Given the description of an element on the screen output the (x, y) to click on. 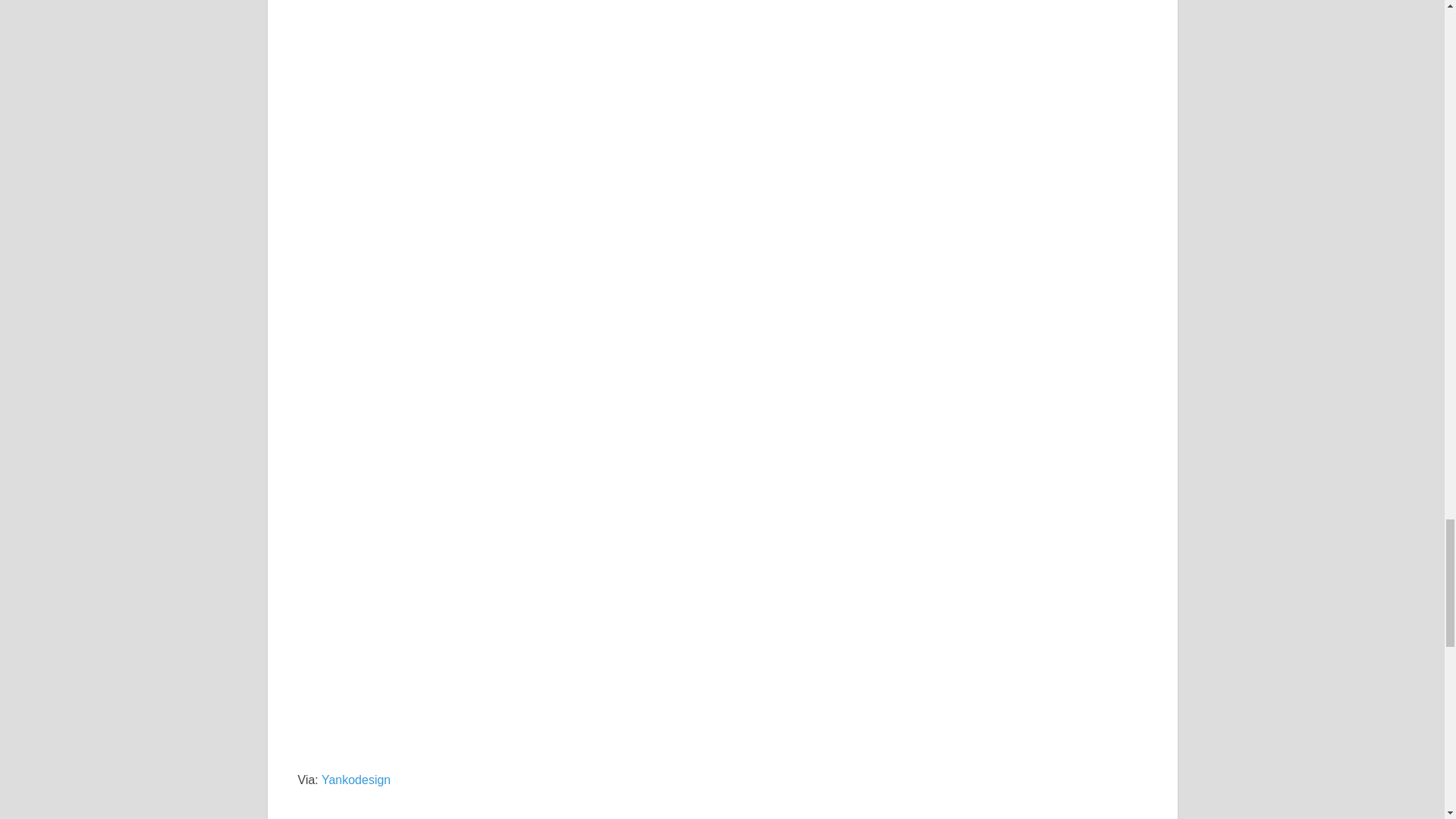
Yankodesign (355, 779)
